Given the description of an element on the screen output the (x, y) to click on. 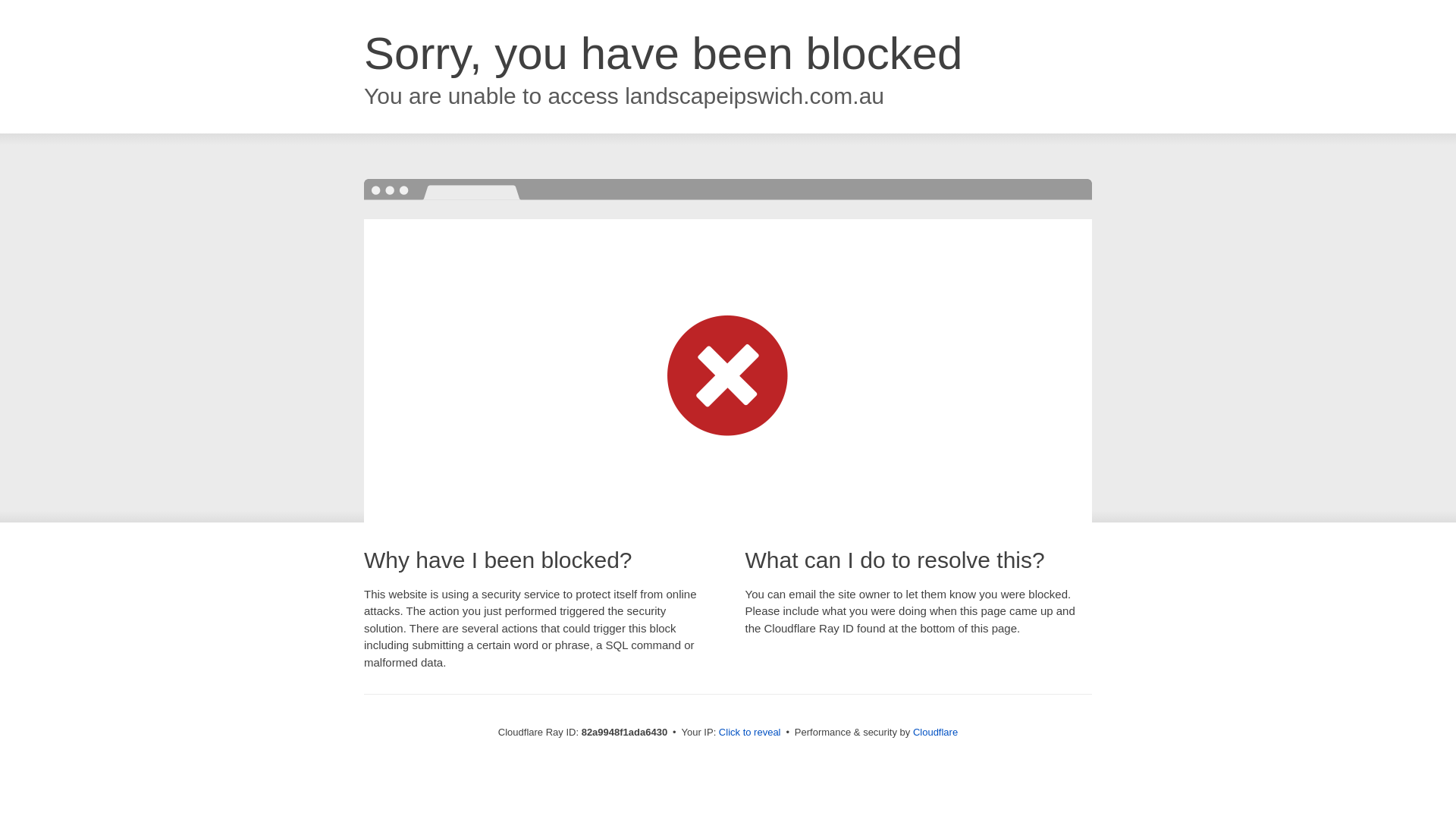
Cloudflare Element type: text (935, 731)
Click to reveal Element type: text (749, 732)
